Given the description of an element on the screen output the (x, y) to click on. 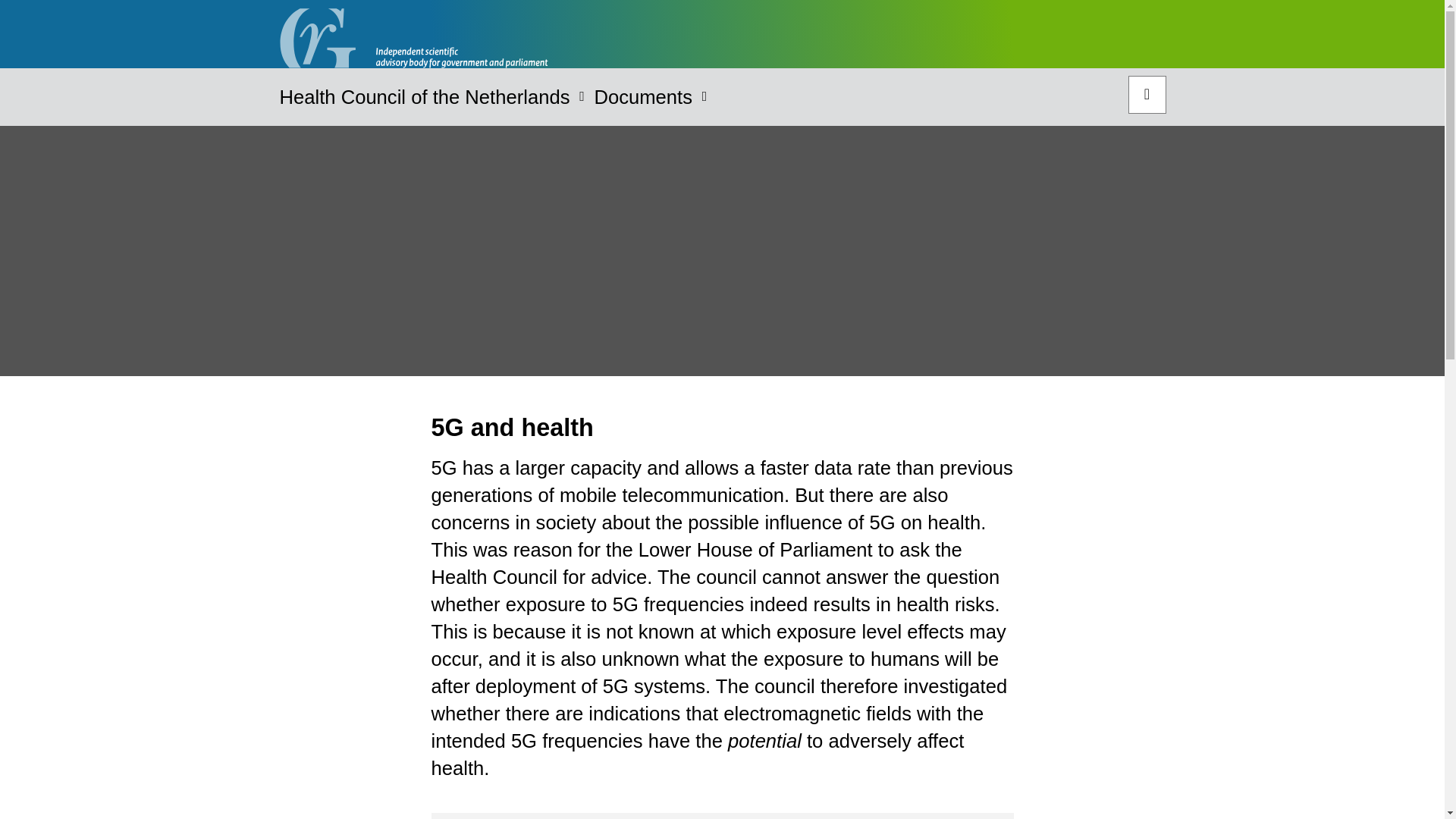
Search (1146, 94)
Health Council of the Netherlands (424, 101)
Start search (1146, 94)
Documents (643, 101)
